Given the description of an element on the screen output the (x, y) to click on. 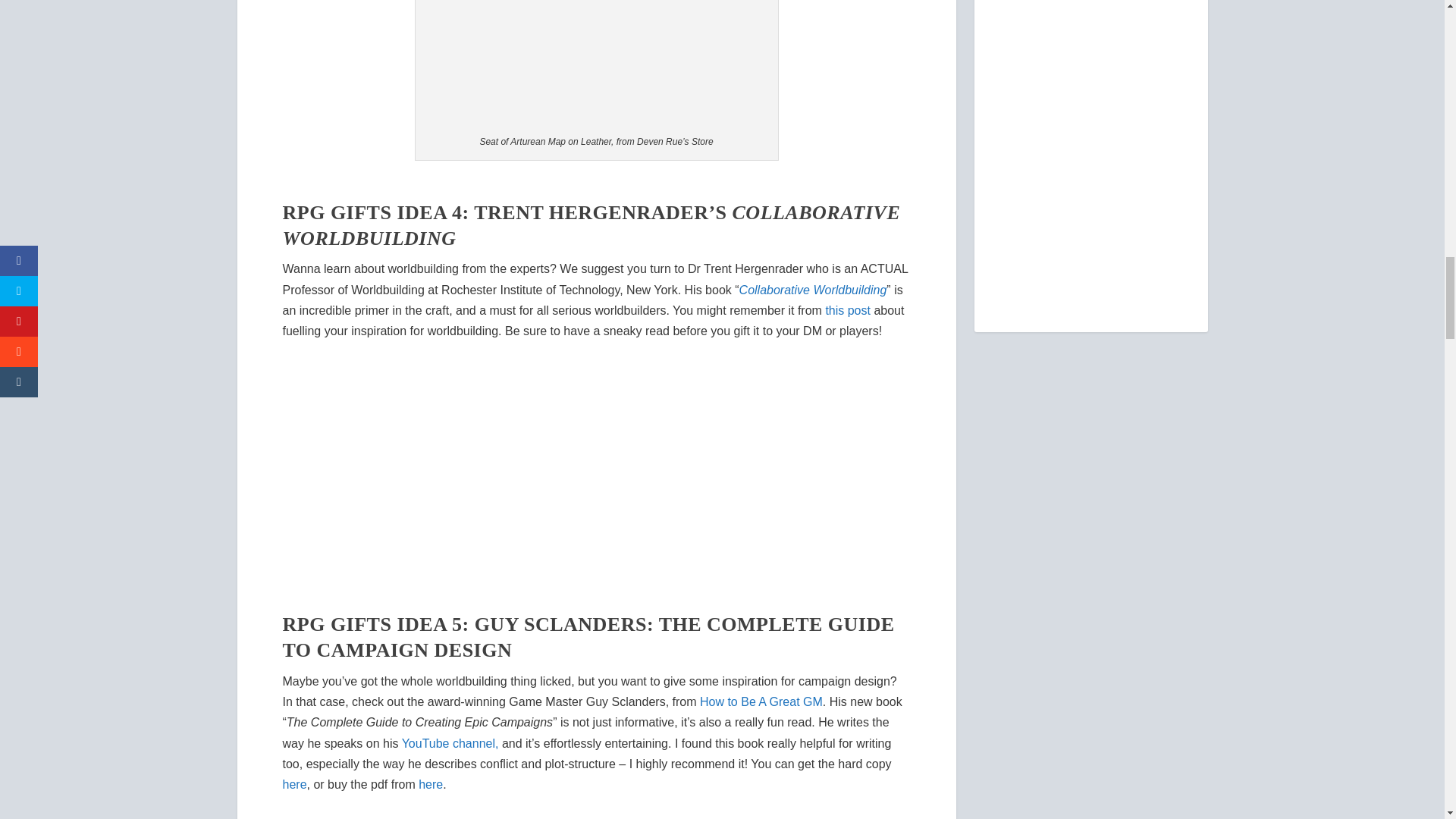
Collaborative Worldbuilding (812, 289)
here (293, 784)
this post (847, 309)
here (430, 784)
How to Be A Great GM (761, 701)
YouTube channel, (450, 743)
